Given the description of an element on the screen output the (x, y) to click on. 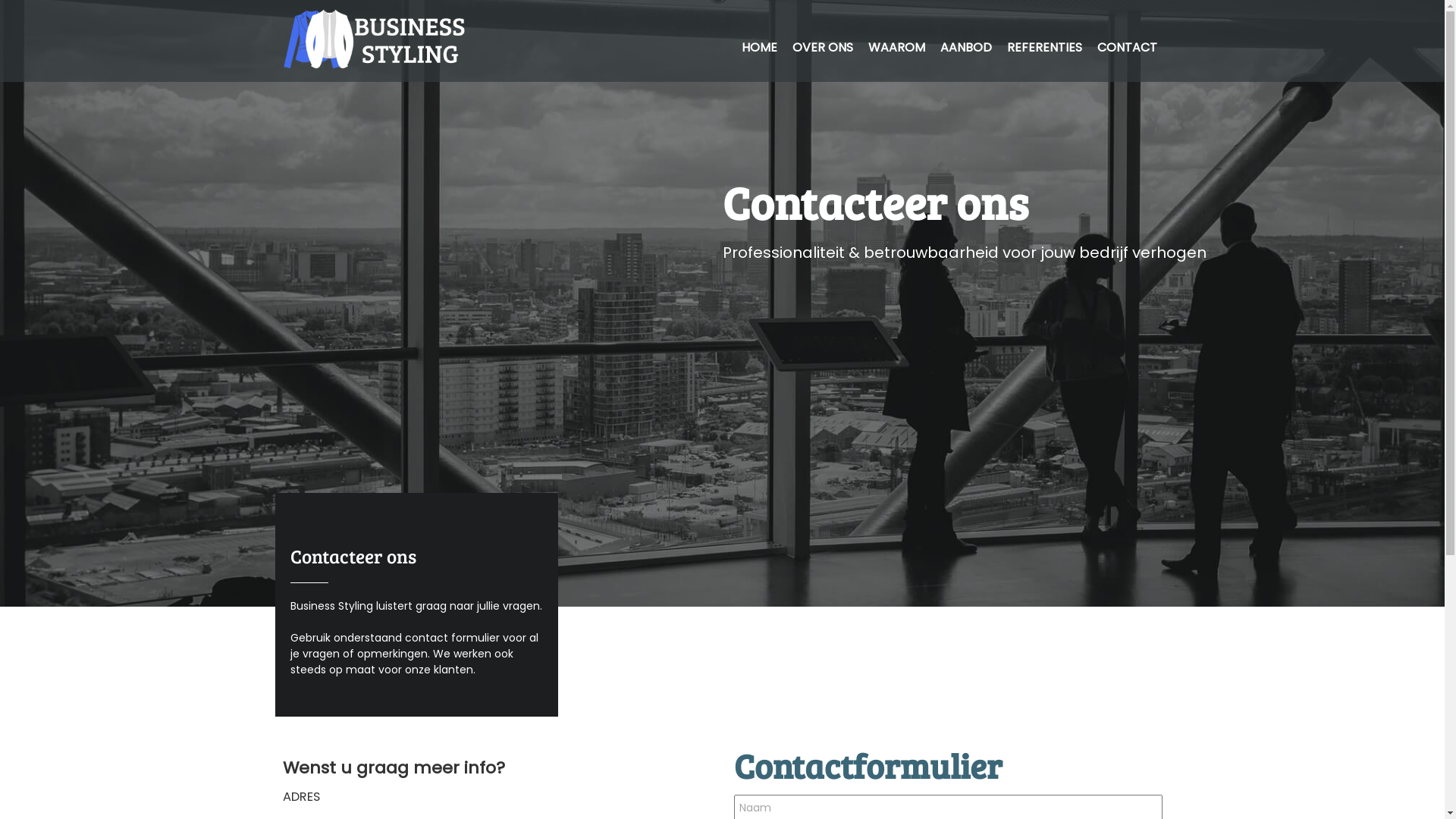
WAAROM Element type: text (895, 47)
Skip to main content Element type: text (658, 0)
Business Styling Element type: text (292, 359)
AANBOD Element type: text (965, 47)
CONTACT Element type: text (1126, 47)
OVER ONS Element type: text (821, 47)
HOME Element type: text (759, 47)
REFERENTIES Element type: text (1044, 47)
